Given the description of an element on the screen output the (x, y) to click on. 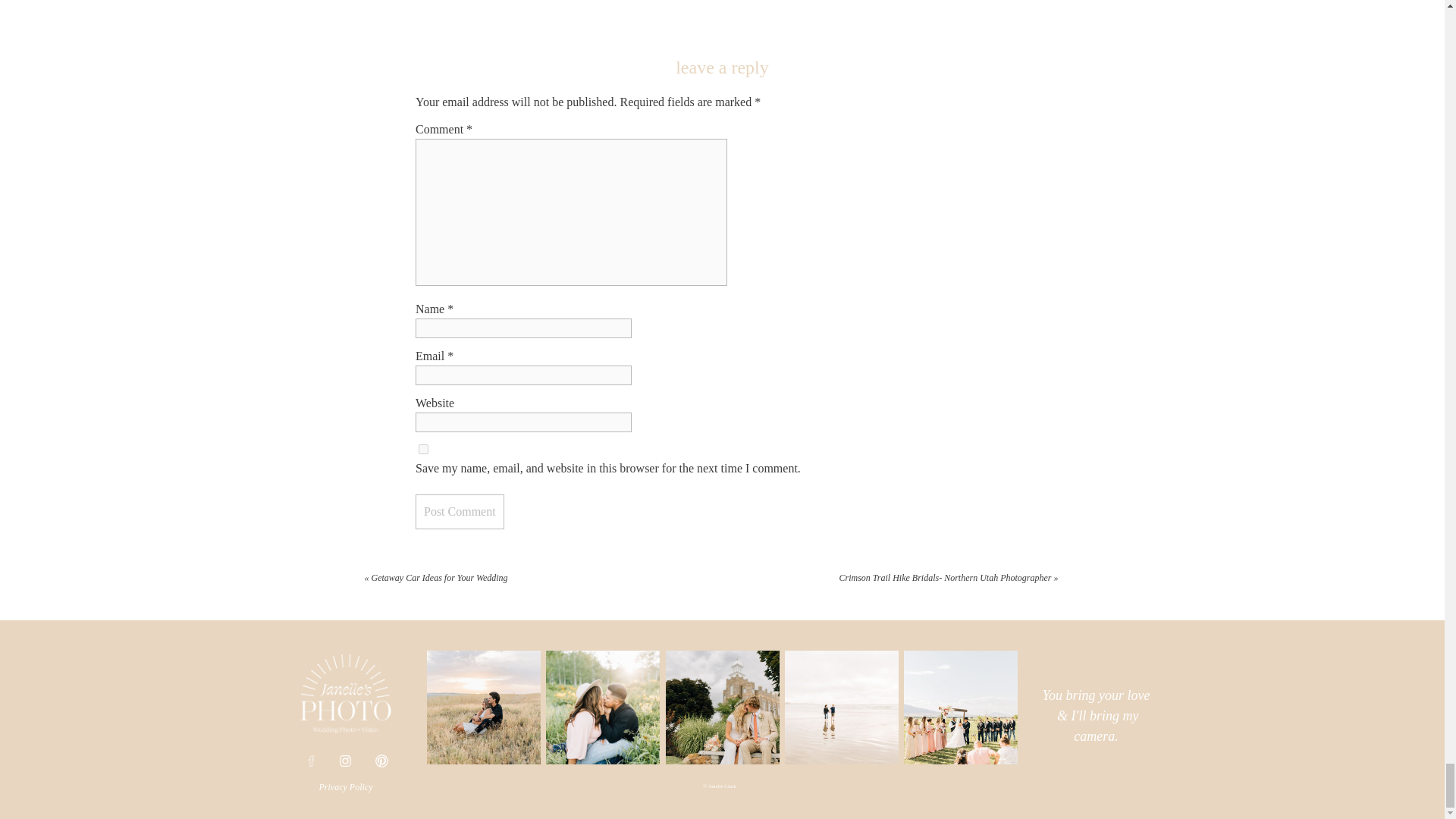
Privacy Policy (345, 789)
Getaway Car Ideas for Your Wedding (439, 577)
Post Comment (458, 511)
Crimson Trail Hike Bridals- Northern Utah Photographer (944, 577)
yes (423, 449)
Post Comment (458, 511)
